Given the description of an element on the screen output the (x, y) to click on. 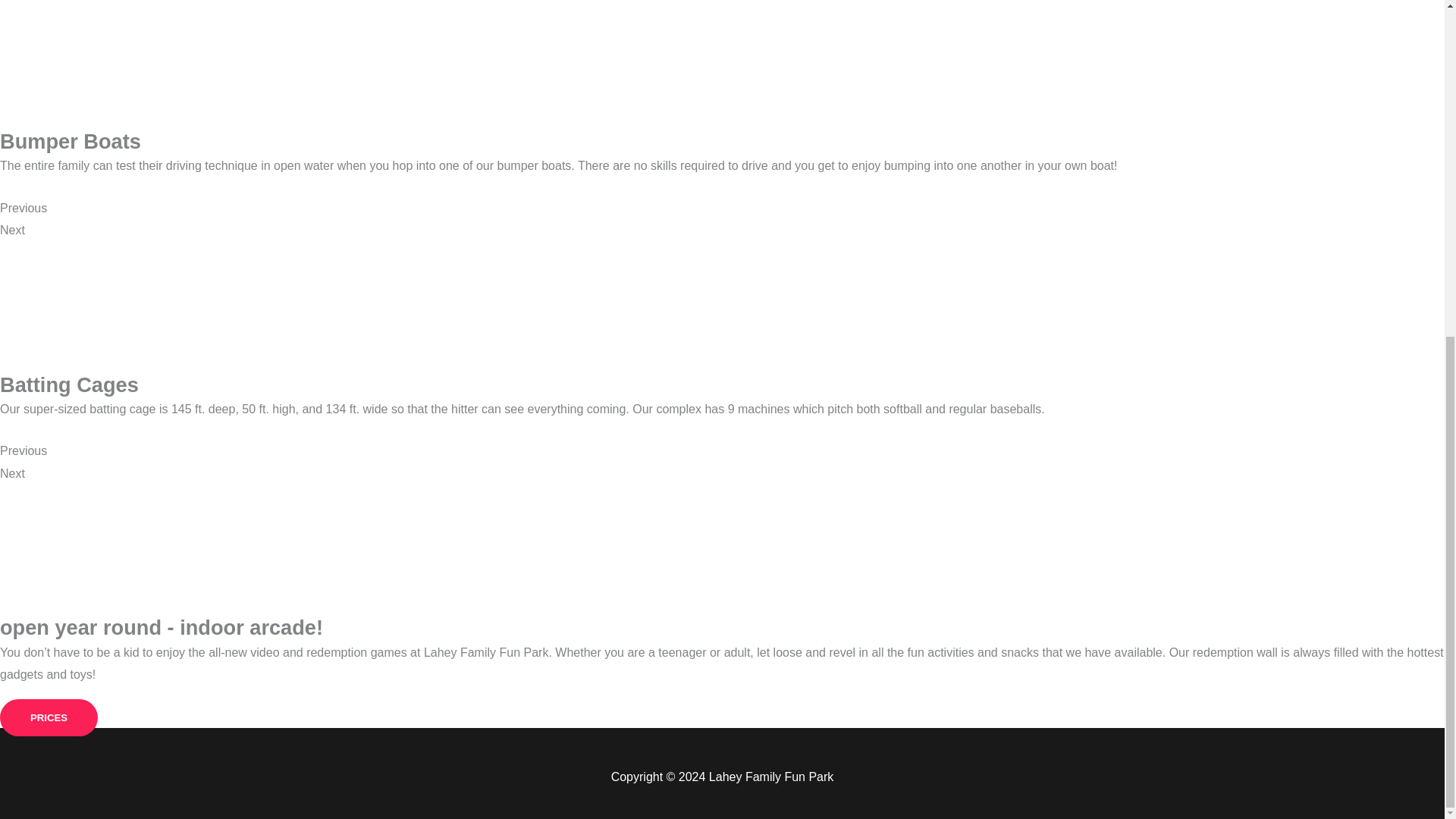
PRICES (48, 717)
